Given the description of an element on the screen output the (x, y) to click on. 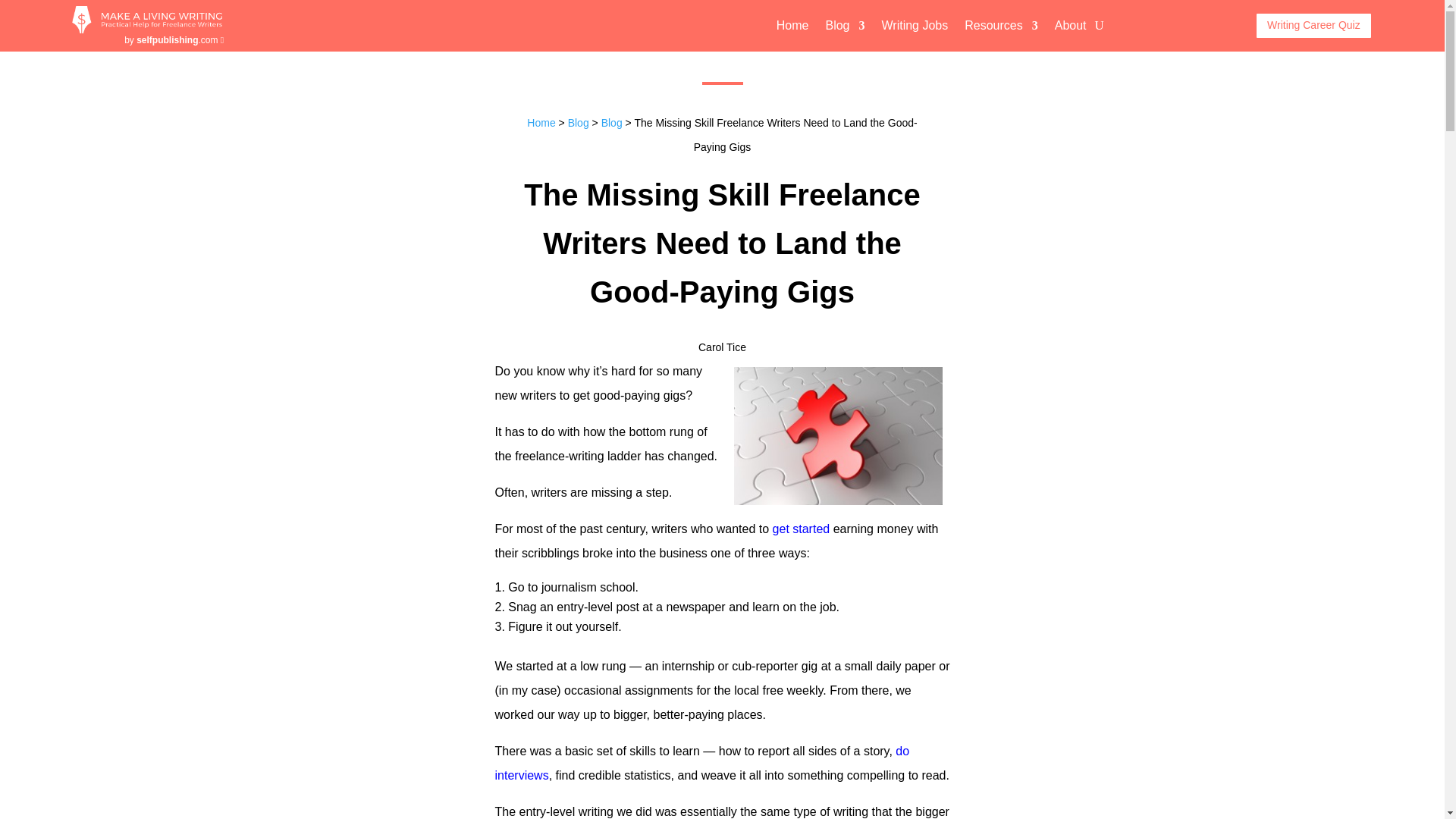
Home (792, 28)
Make a Living Writing (147, 29)
About (1070, 28)
Blog (578, 122)
Writing Career Quiz (1314, 25)
Blog (844, 28)
Home (540, 122)
missing puzzle piece (837, 435)
Writing Jobs (915, 28)
Resources (999, 28)
